Given the description of an element on the screen output the (x, y) to click on. 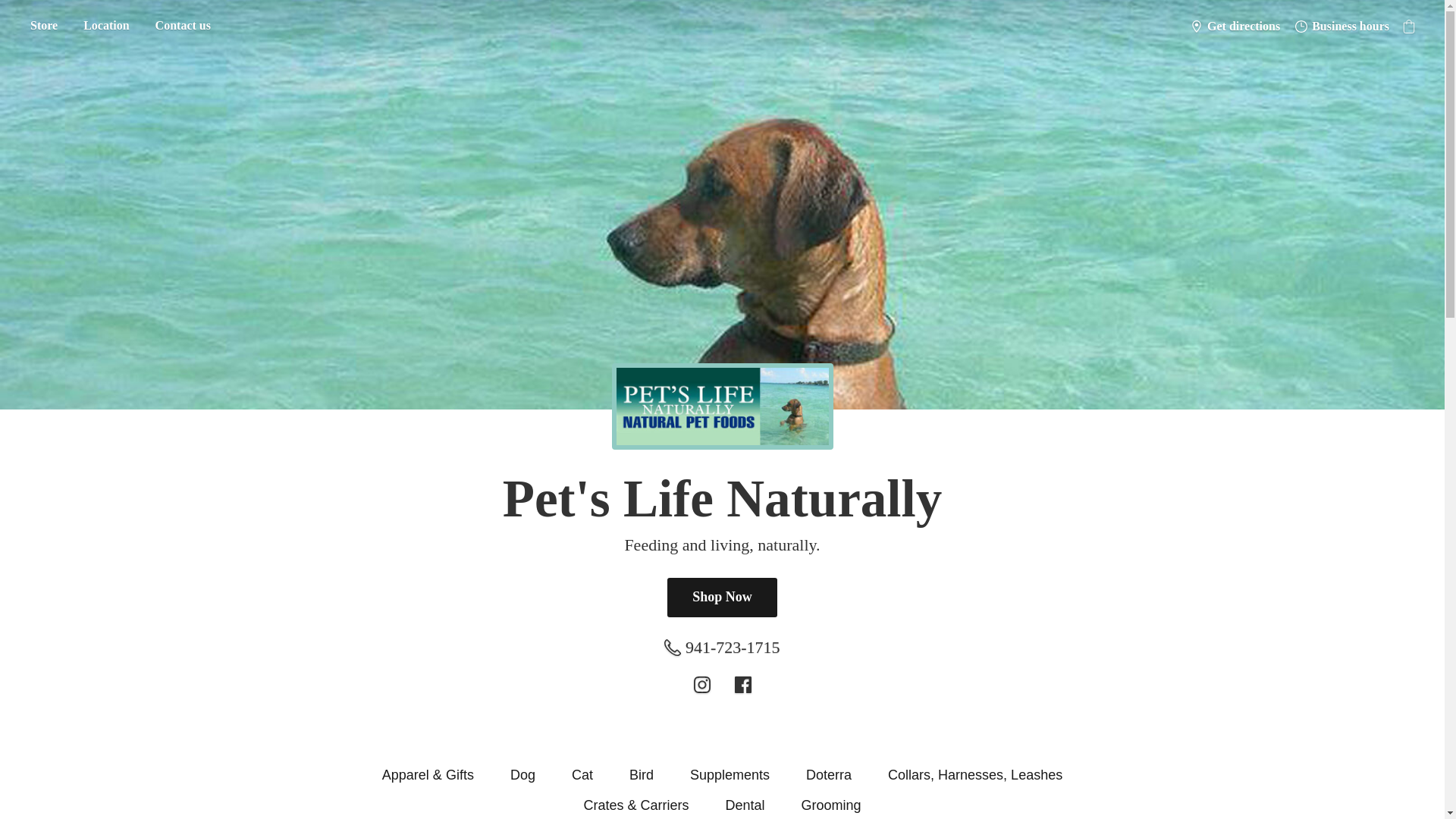
Doterra (828, 774)
Business hours (1341, 26)
Contact us (183, 25)
Grooming (831, 805)
Store (43, 25)
Collars, Harnesses, Leashes (975, 774)
Dog (523, 774)
Shop Now (721, 597)
Bird (640, 774)
Location (105, 25)
